Given the description of an element on the screen output the (x, y) to click on. 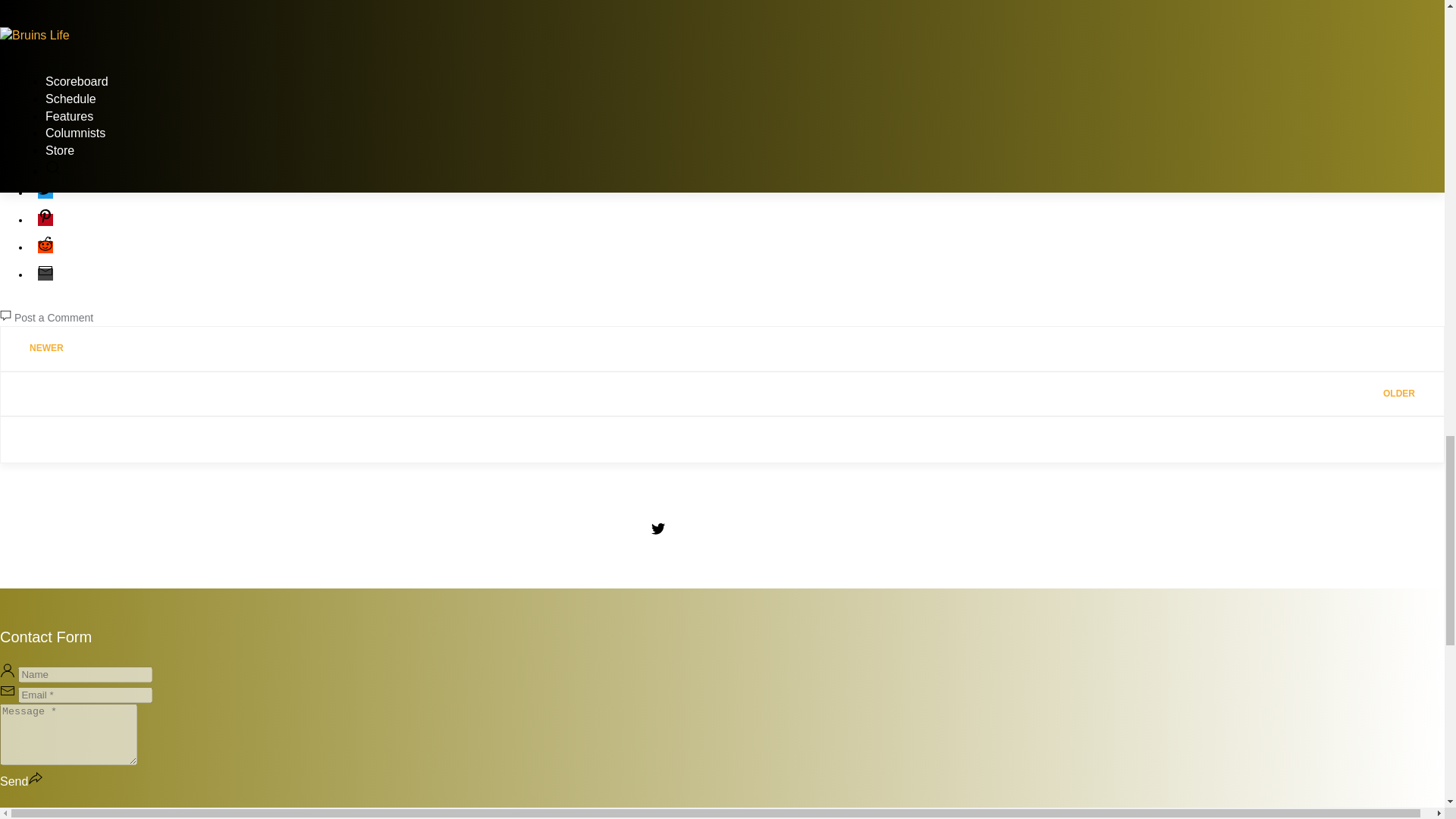
NEWER (722, 348)
OLDER (722, 393)
Unknown (33, 132)
author profile (33, 132)
Post a Comment (52, 317)
Advertisement (721, 49)
permanent link (121, 132)
